Given the description of an element on the screen output the (x, y) to click on. 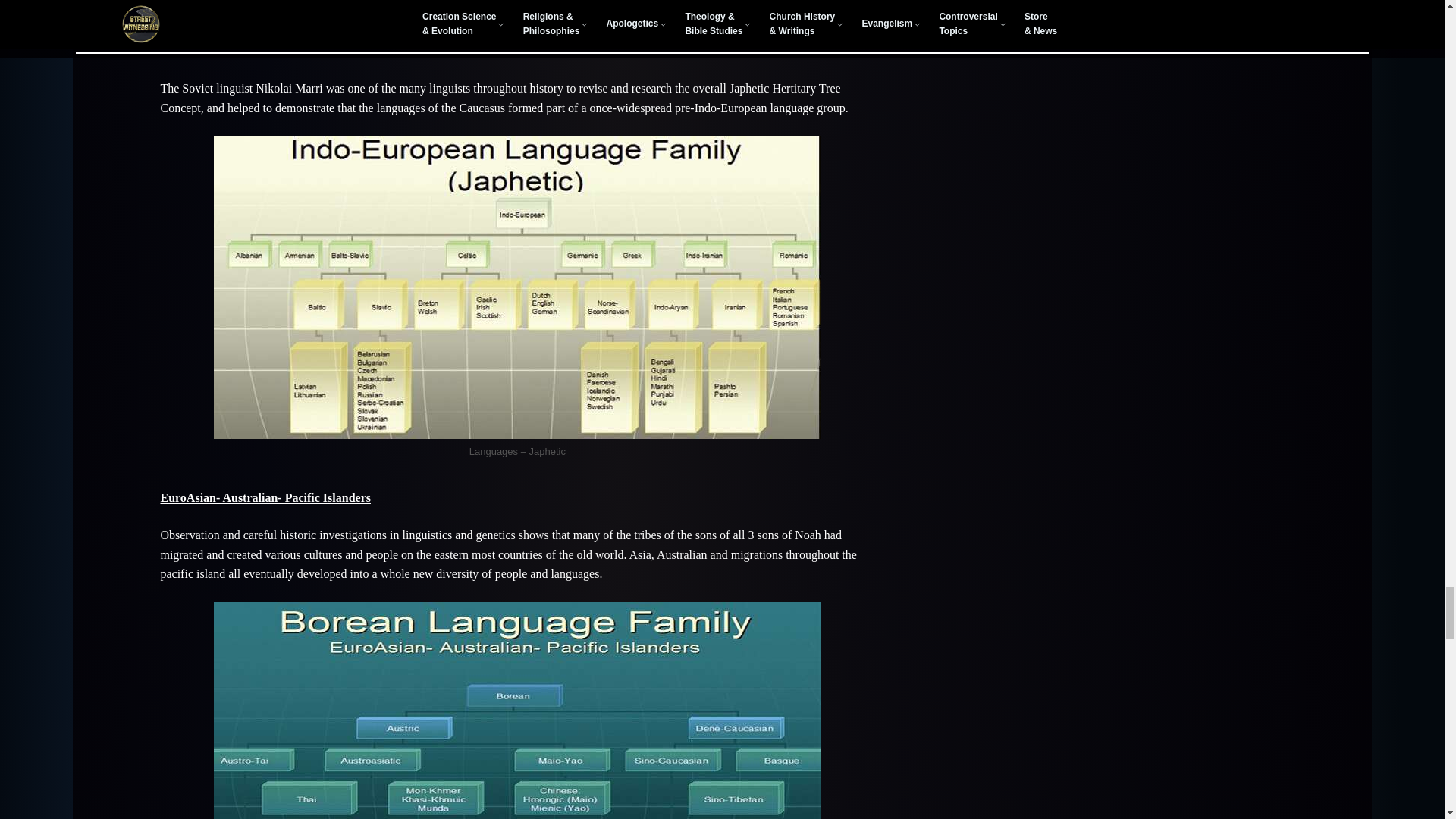
Fig.8 - Euro-Asian Languages (517, 710)
